Given the description of an element on the screen output the (x, y) to click on. 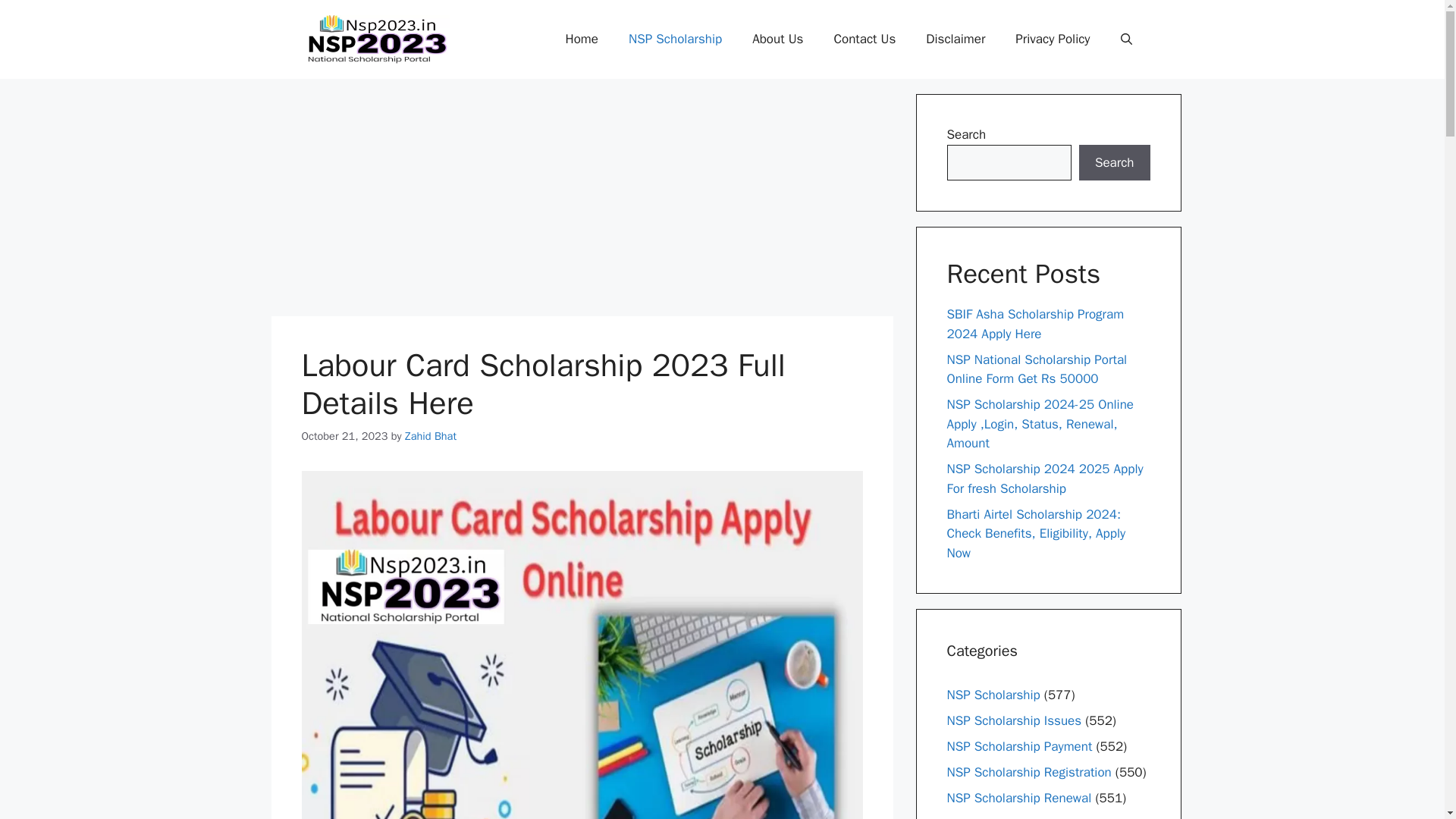
NSP Scholarship Registration (1028, 772)
NSP Scholarship Issues (1013, 720)
Privacy Policy (1052, 39)
Contact Us (864, 39)
Home (581, 39)
About Us (777, 39)
View all posts by Zahid Bhat (430, 436)
NSP Scholarship Payment (1019, 746)
